Given the description of an element on the screen output the (x, y) to click on. 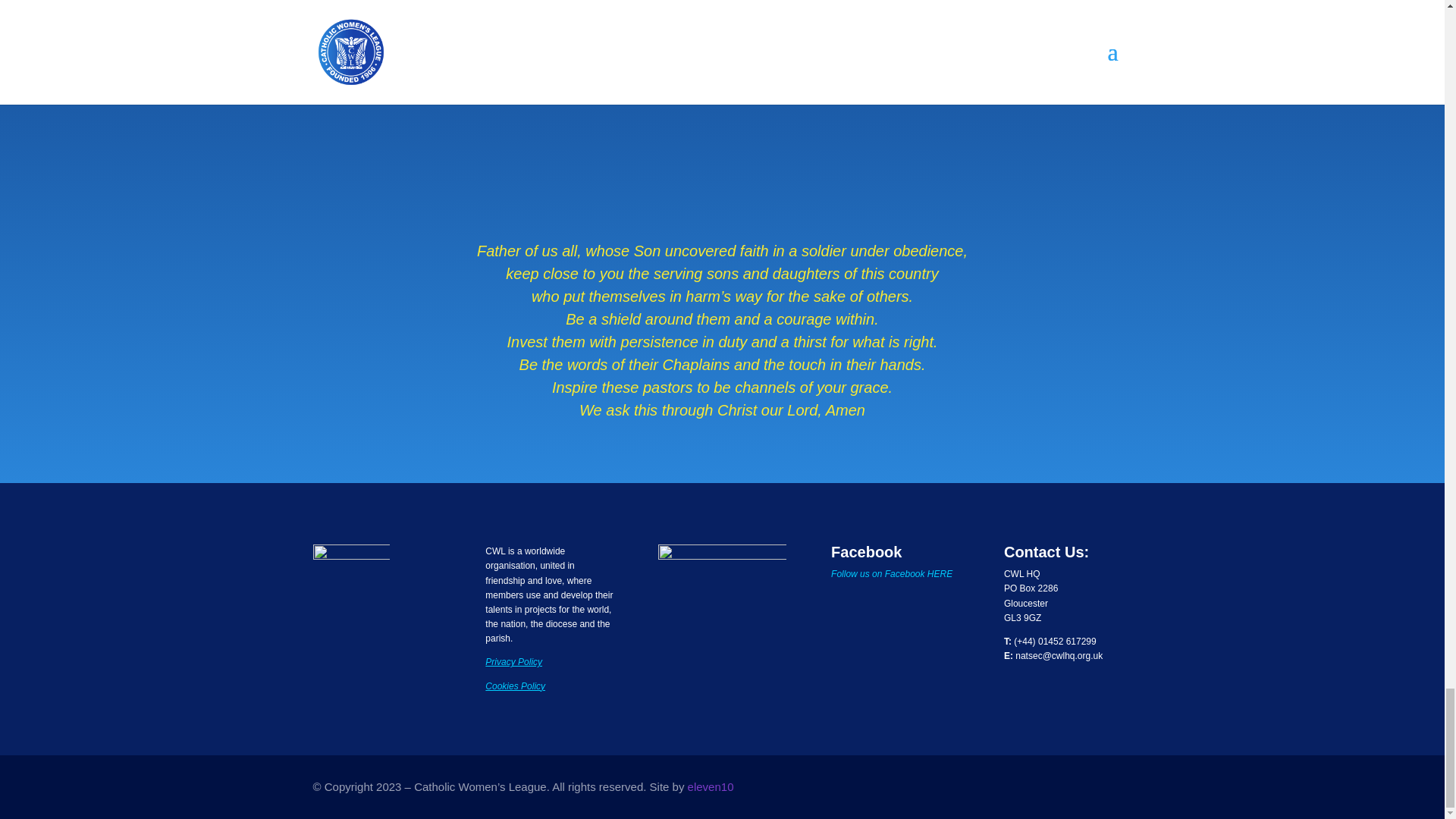
Privacy Policy (512, 661)
CWL-Support (722, 108)
Cookies Policy (514, 685)
eleven10 (710, 786)
Universe-online (722, 605)
cropped-CWL-Logo.png (350, 582)
Follow us on Facebook HERE (891, 573)
